Given the description of an element on the screen output the (x, y) to click on. 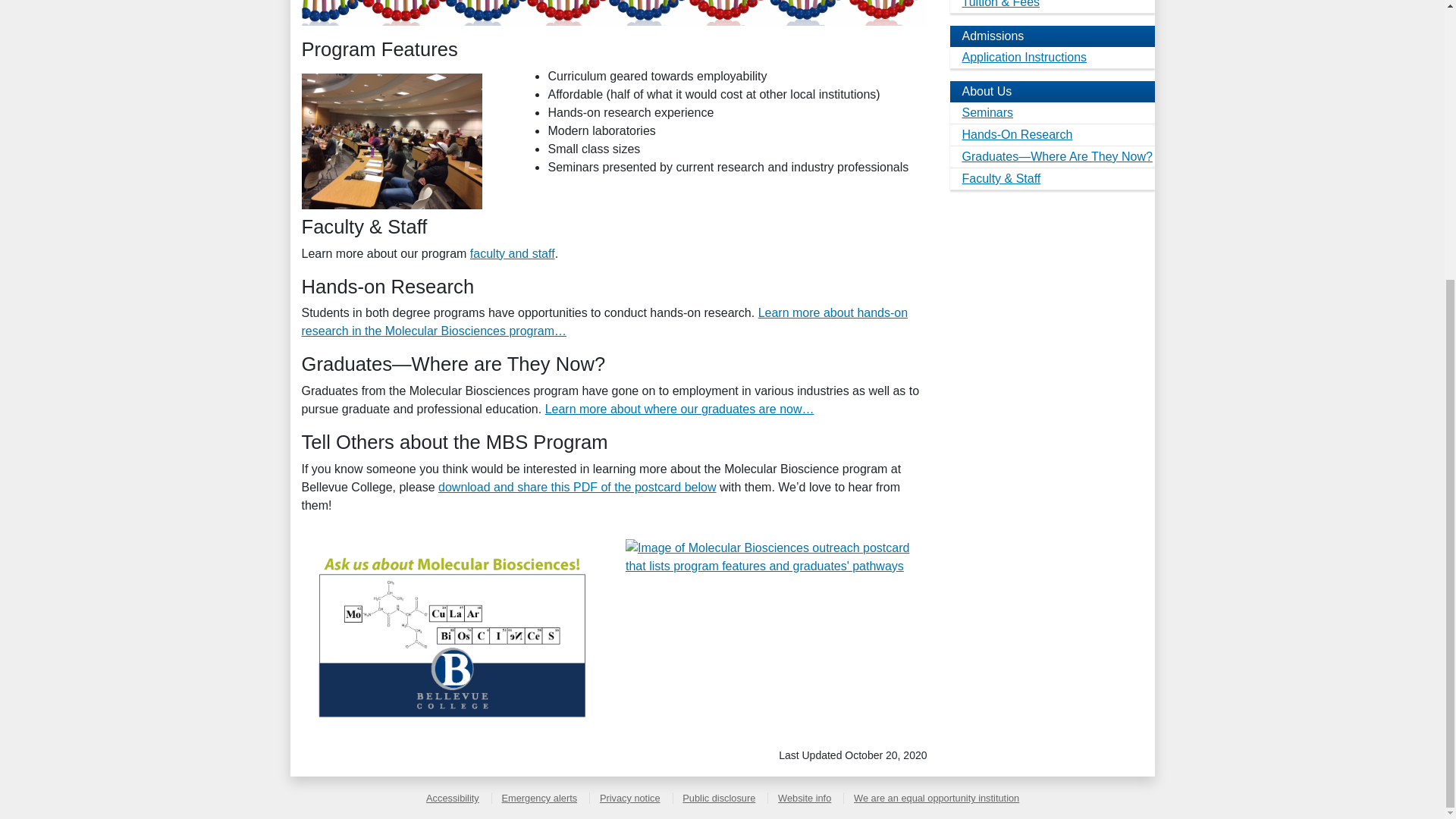
Application Instructions (1051, 57)
Seminars (1051, 113)
Emergency alerts (539, 797)
Privacy notice (628, 797)
faculty and staff (512, 253)
download and share this PDF of the postcard below (577, 486)
Accessibility (451, 797)
Hands-On Research (1051, 135)
